Given the description of an element on the screen output the (x, y) to click on. 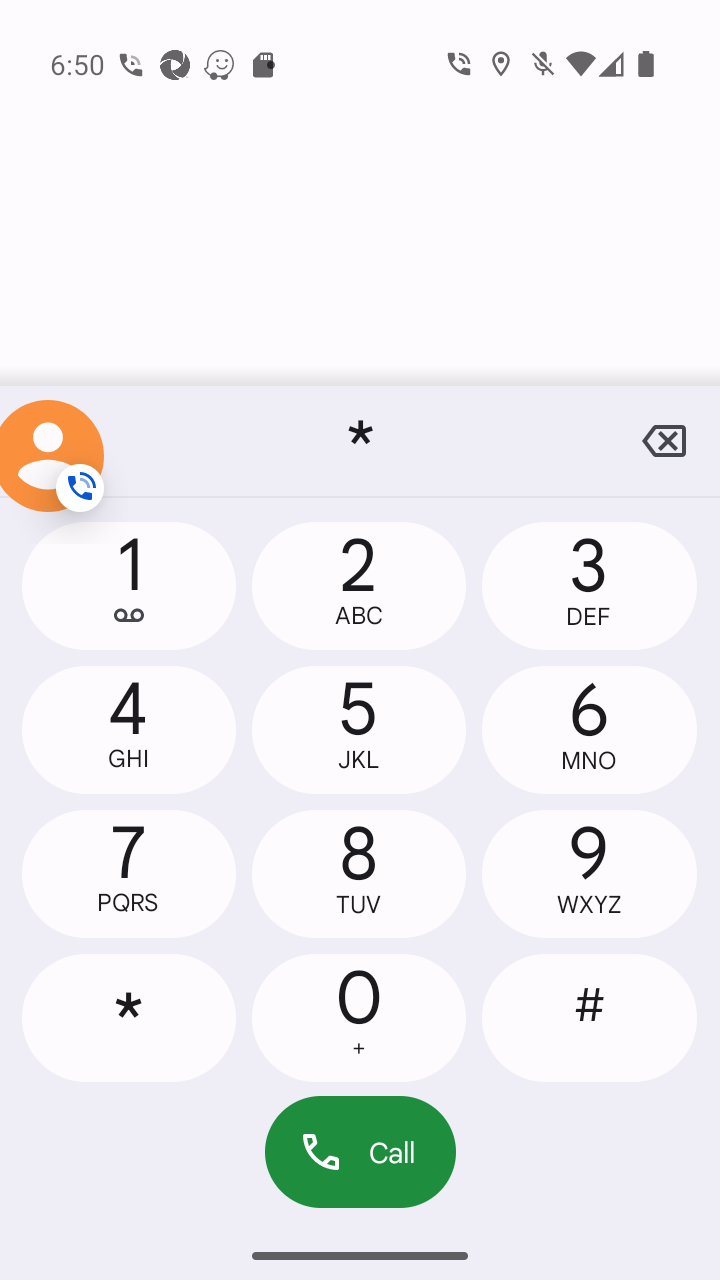
More options (56, 441)
* (359, 441)
backspace (663, 441)
1, 1 (129, 586)
2,ABC 2 ABC (358, 586)
3,DEF 3 DEF (588, 586)
4,GHI 4 GHI (129, 729)
5,JKL 5 JKL (358, 729)
6,MNO 6 MNO (588, 729)
7,PQRS 7 PQRS (129, 874)
8,TUV 8 TUV (358, 874)
9,WXYZ 9 WXYZ (588, 874)
* (129, 1017)
0 0 + (358, 1017)
# (588, 1017)
Call dial (359, 1151)
